Given the description of an element on the screen output the (x, y) to click on. 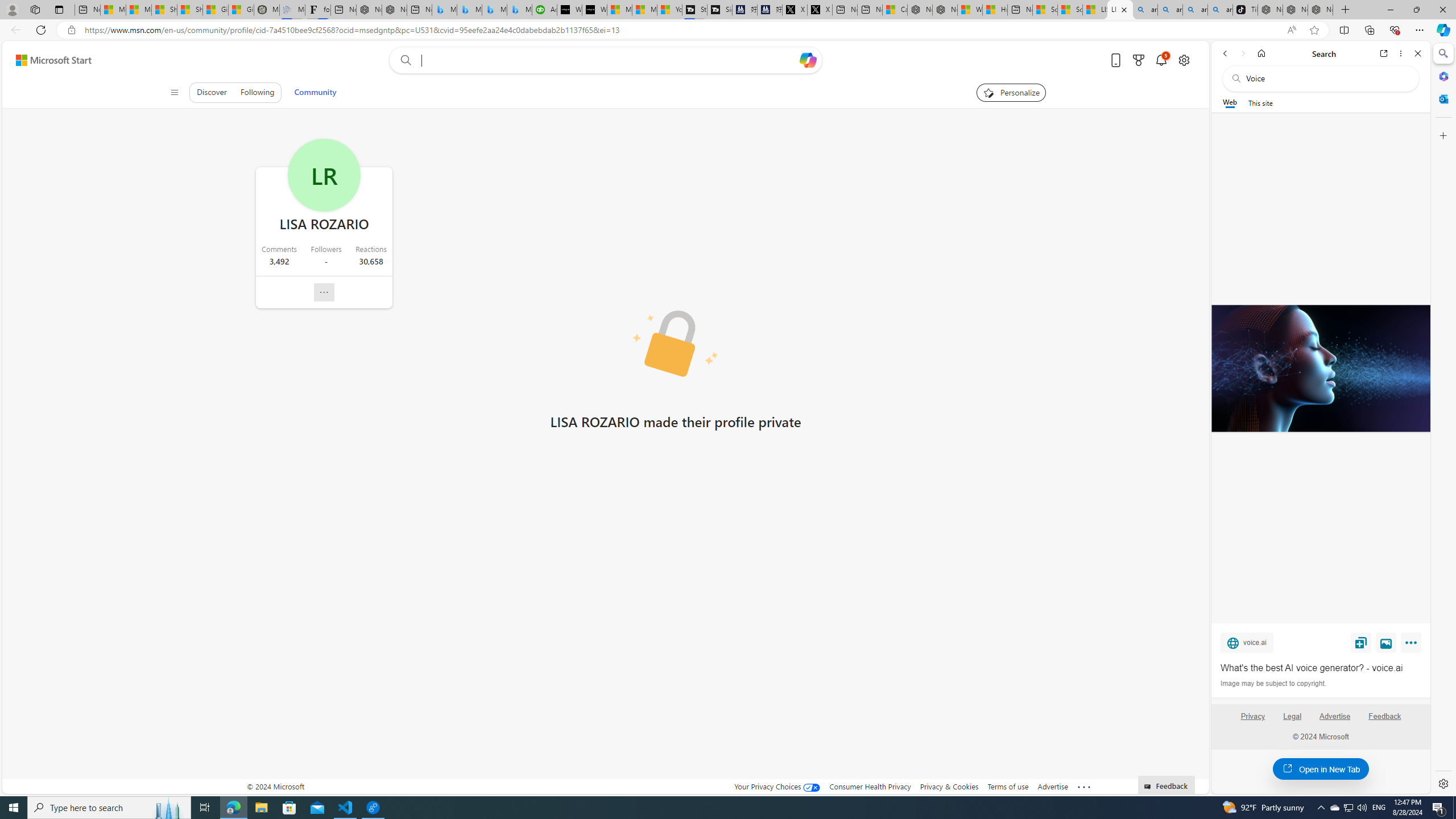
X (819, 9)
Shanghai, China weather forecast | Microsoft Weather (189, 9)
Advertise (1334, 720)
View image (1385, 642)
Side bar (1443, 418)
Microsoft Bing Travel - Shangri-La Hotel Bangkok (519, 9)
Wildlife - MSN (969, 9)
Image may be subject to copyright. (1273, 682)
TikTok (1244, 9)
More (1413, 644)
More options (1401, 53)
